Given the description of an element on the screen output the (x, y) to click on. 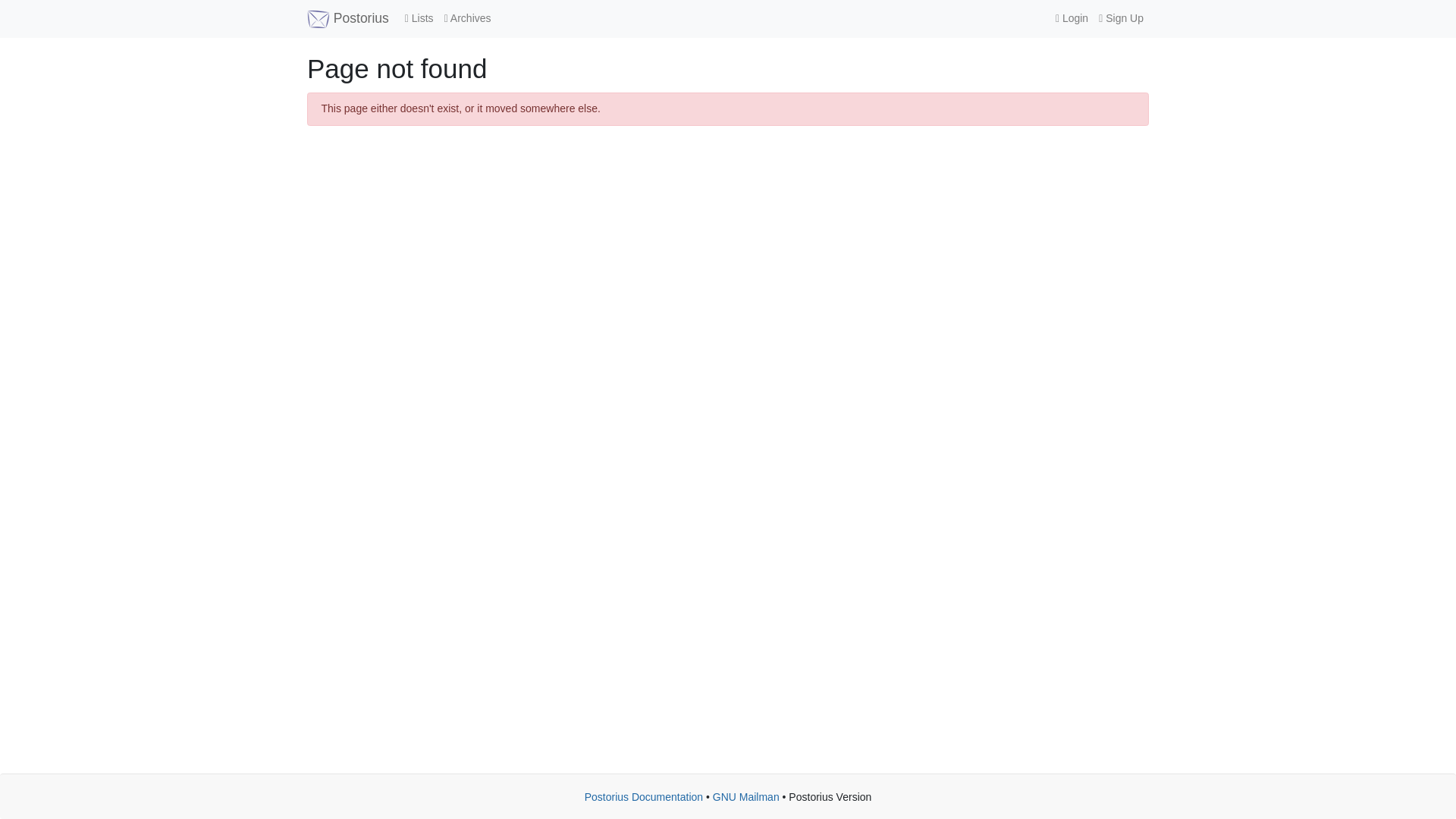
Login (1071, 17)
Postorius (347, 18)
Archives (467, 17)
Lists (418, 17)
Sign Up (1120, 17)
